Given the description of an element on the screen output the (x, y) to click on. 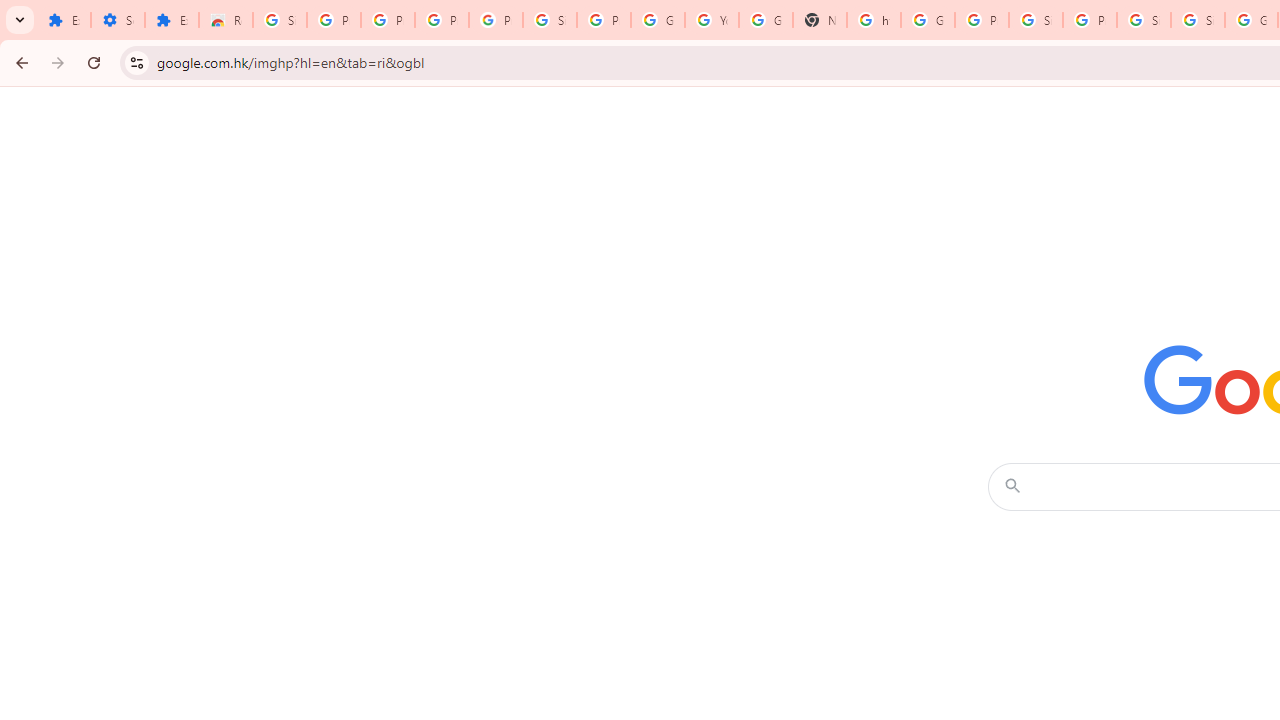
Sign in - Google Accounts (1197, 20)
https://scholar.google.com/ (874, 20)
New Tab (819, 20)
Google Account (657, 20)
Sign in - Google Accounts (550, 20)
Sign in - Google Accounts (1144, 20)
